Given the description of an element on the screen output the (x, y) to click on. 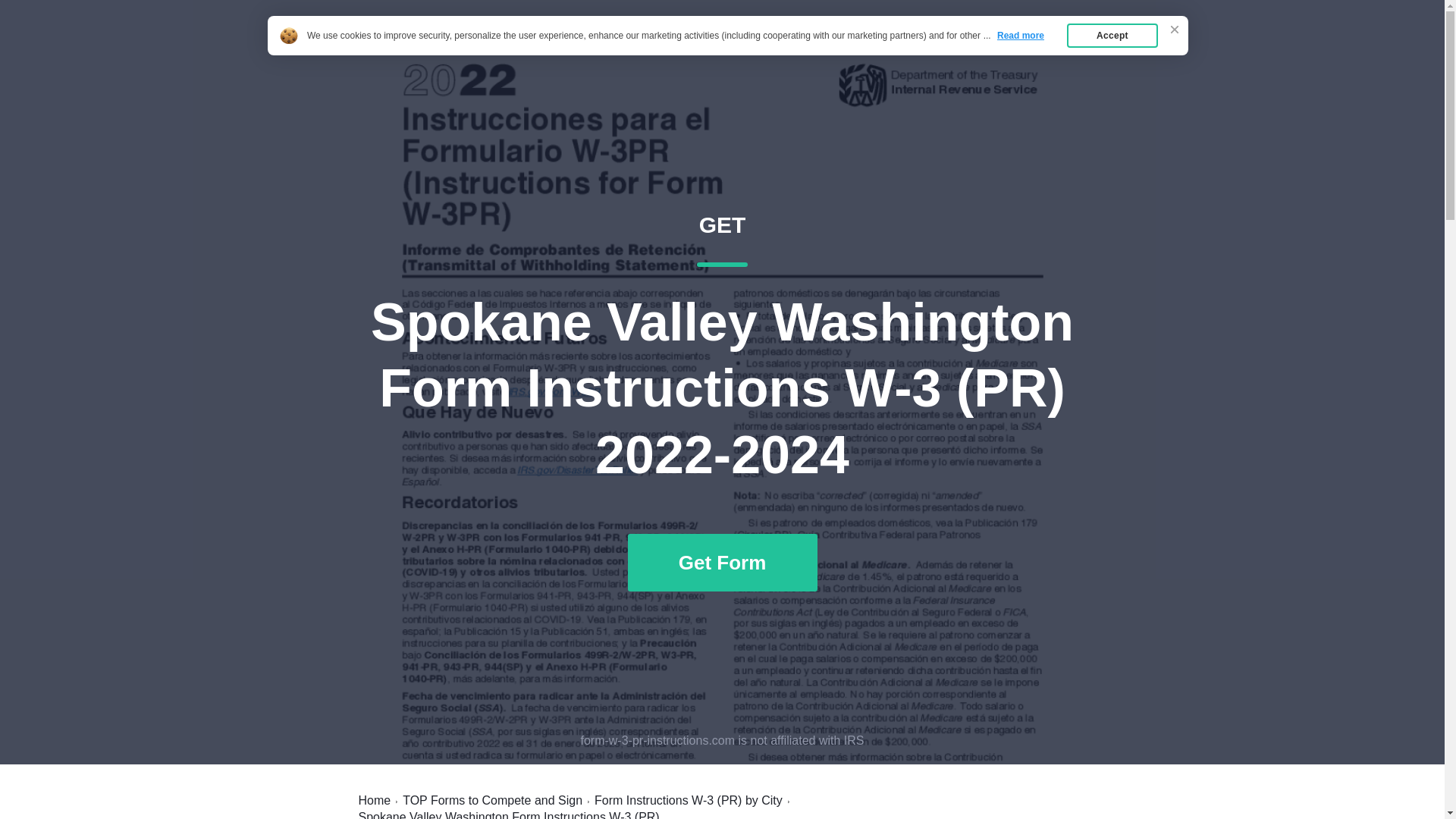
Home (987, 47)
TOP Forms to Compete and Sign (492, 800)
Top Forms (1062, 47)
Form W 3 Pr Instructions (462, 46)
Home (374, 800)
